Given the description of an element on the screen output the (x, y) to click on. 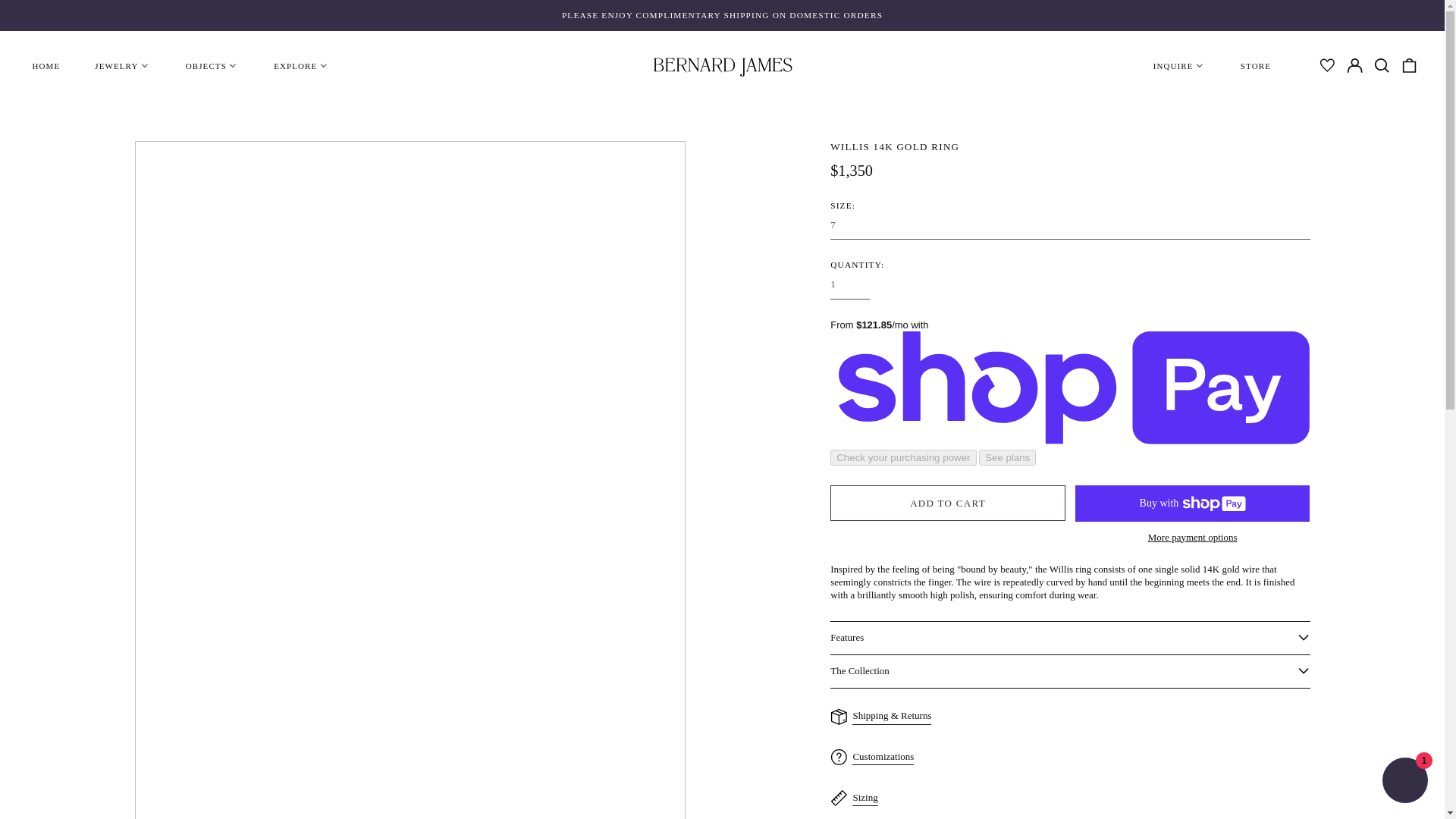
Shopify online store chat (1404, 781)
